Given the description of an element on the screen output the (x, y) to click on. 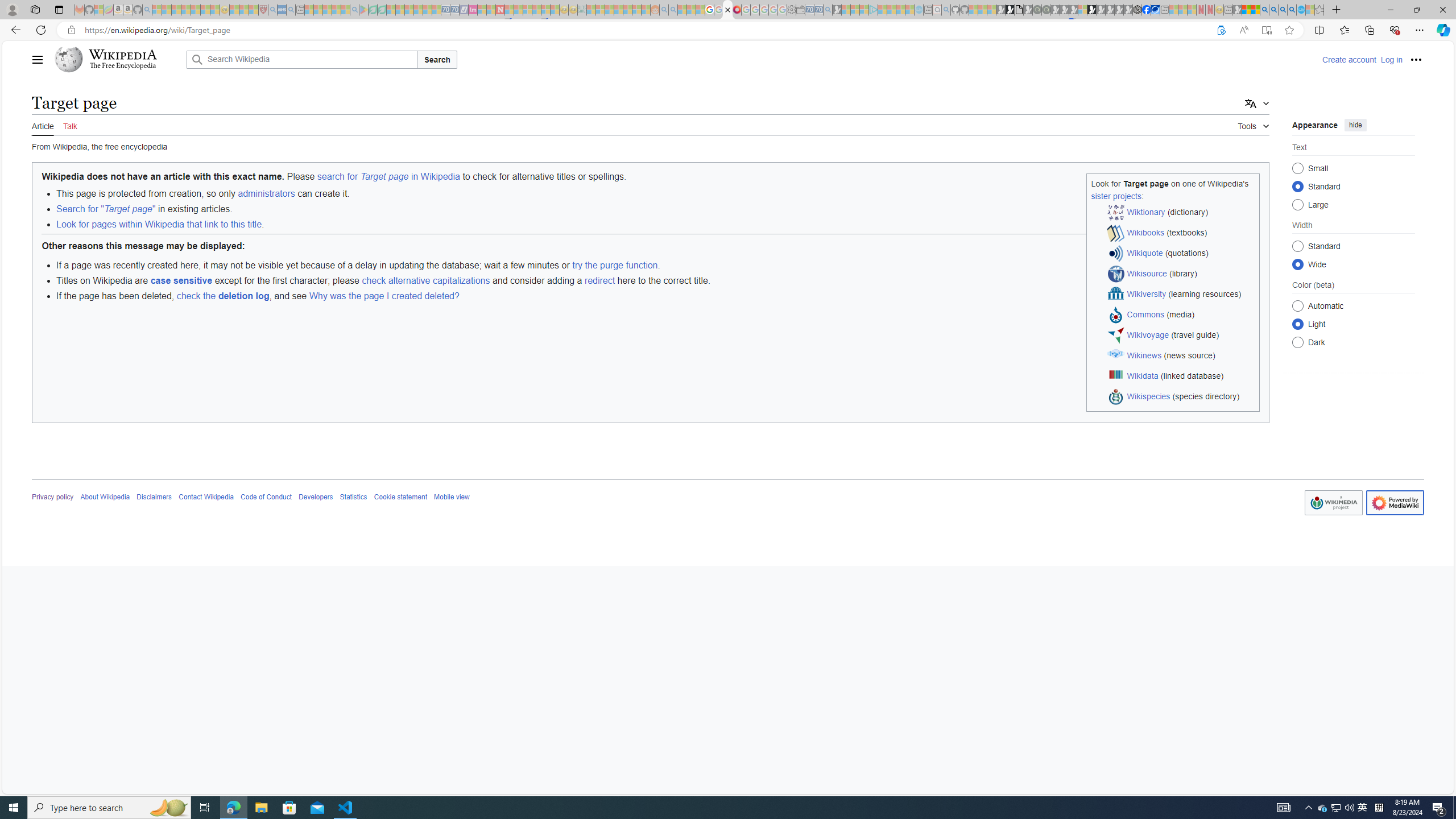
Wikiversity (learning resources) (1181, 294)
AutomationID: footer-poweredbyico (1394, 502)
Wikiquote (quotations) (1181, 253)
Search Wikipedia (301, 59)
